Given the description of an element on the screen output the (x, y) to click on. 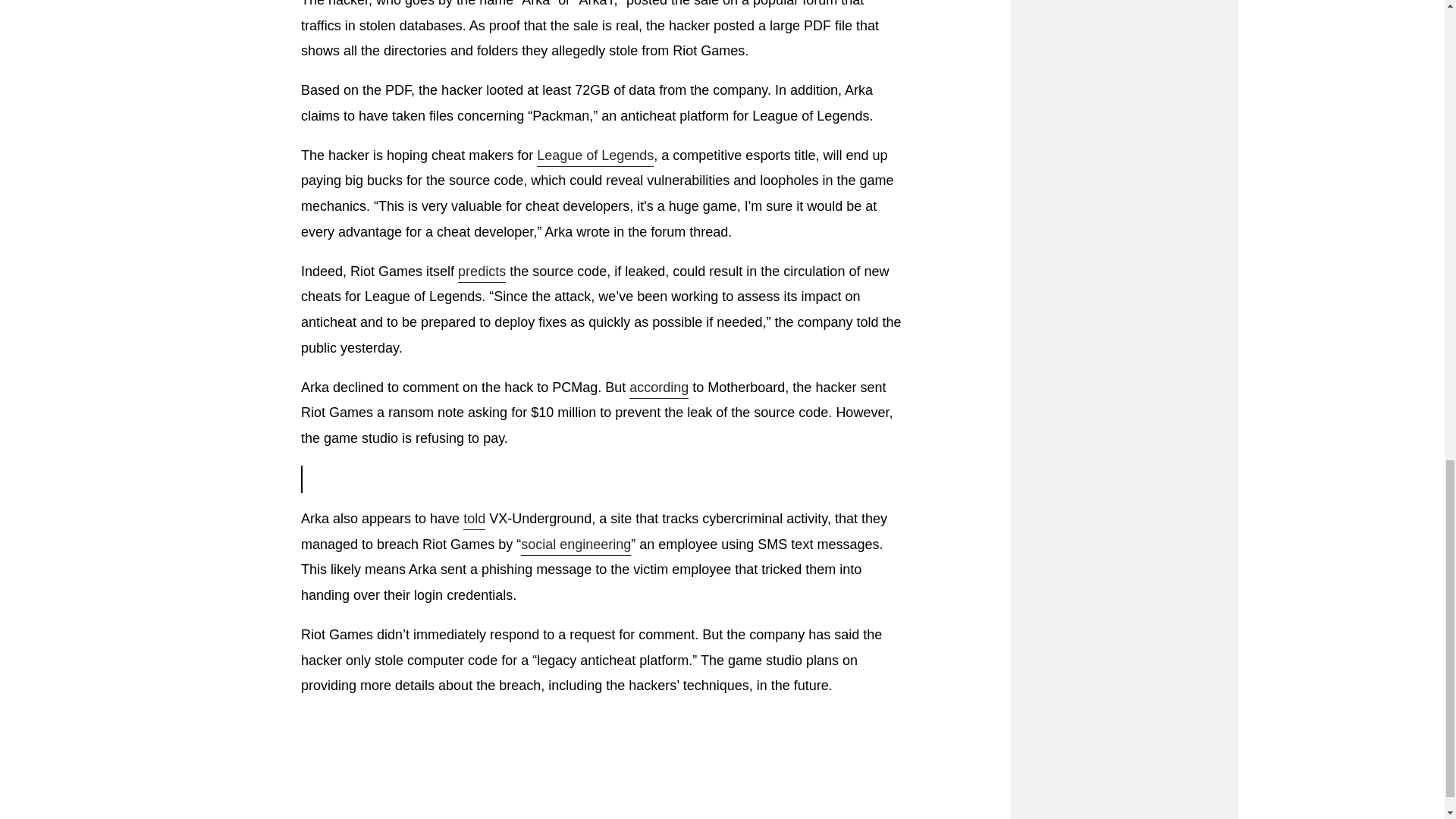
according (658, 388)
predicts (481, 272)
League of Legends (595, 157)
told (473, 519)
